Given the description of an element on the screen output the (x, y) to click on. 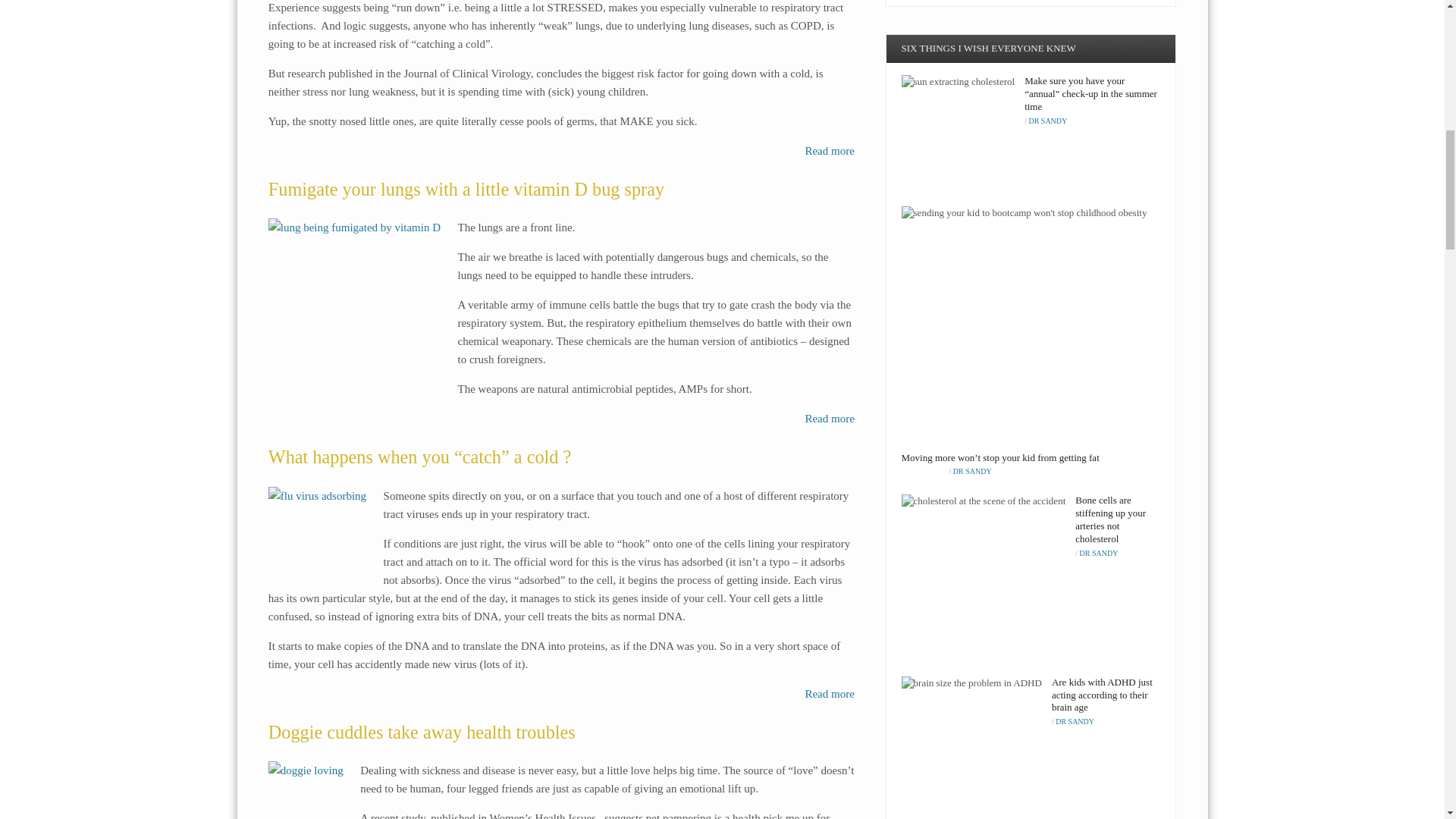
Click here to read more (829, 693)
Read more (829, 150)
Dr Sandy (1047, 121)
Click here to read more (829, 150)
Dr Sandy (1074, 721)
Read more (829, 418)
Dr Sandy (972, 470)
Click here to read more (829, 418)
Read more (829, 693)
Dr Sandy (1099, 552)
